Given the description of an element on the screen output the (x, y) to click on. 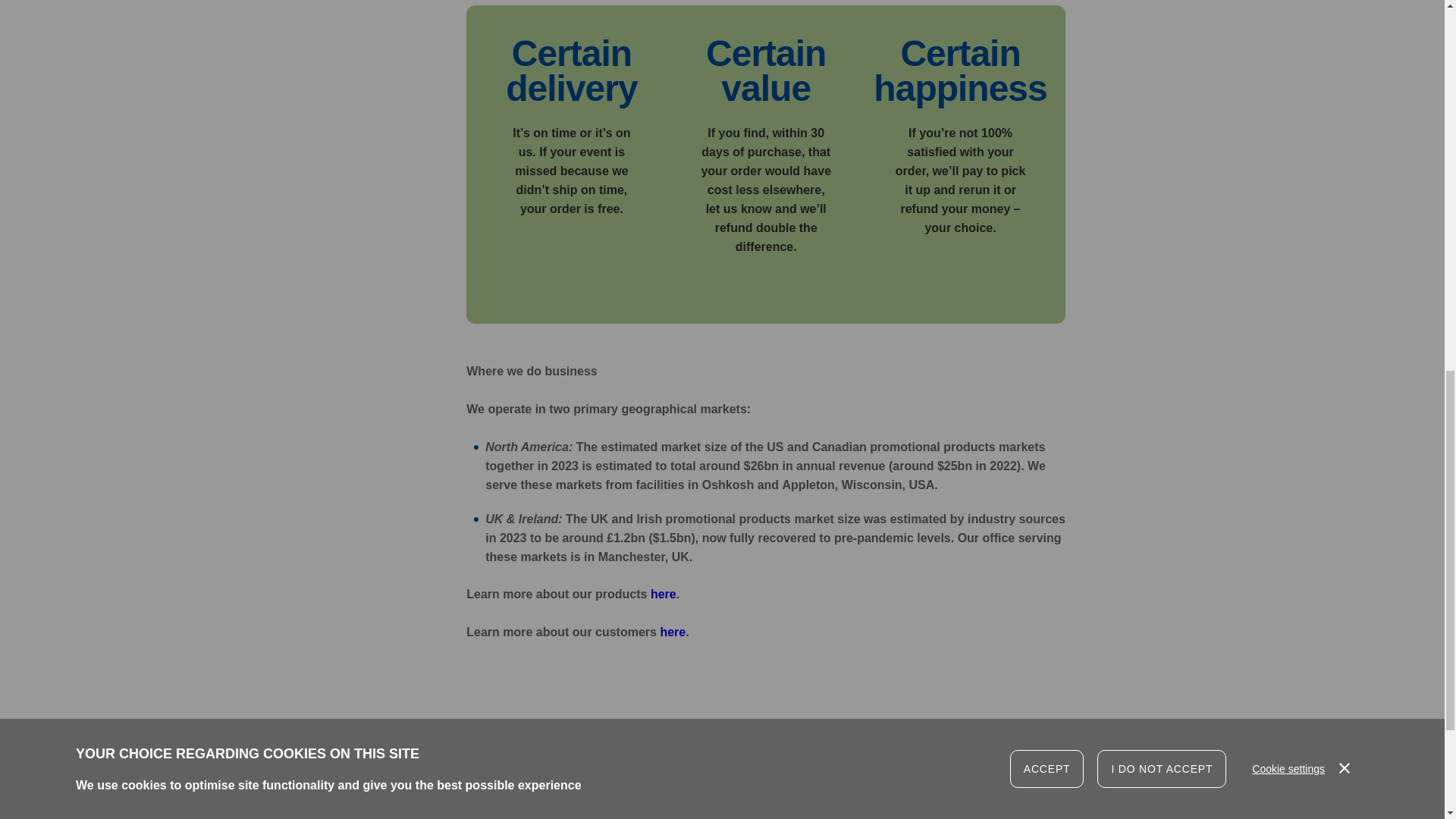
Our products (663, 594)
Our Customers (672, 631)
